Given the description of an element on the screen output the (x, y) to click on. 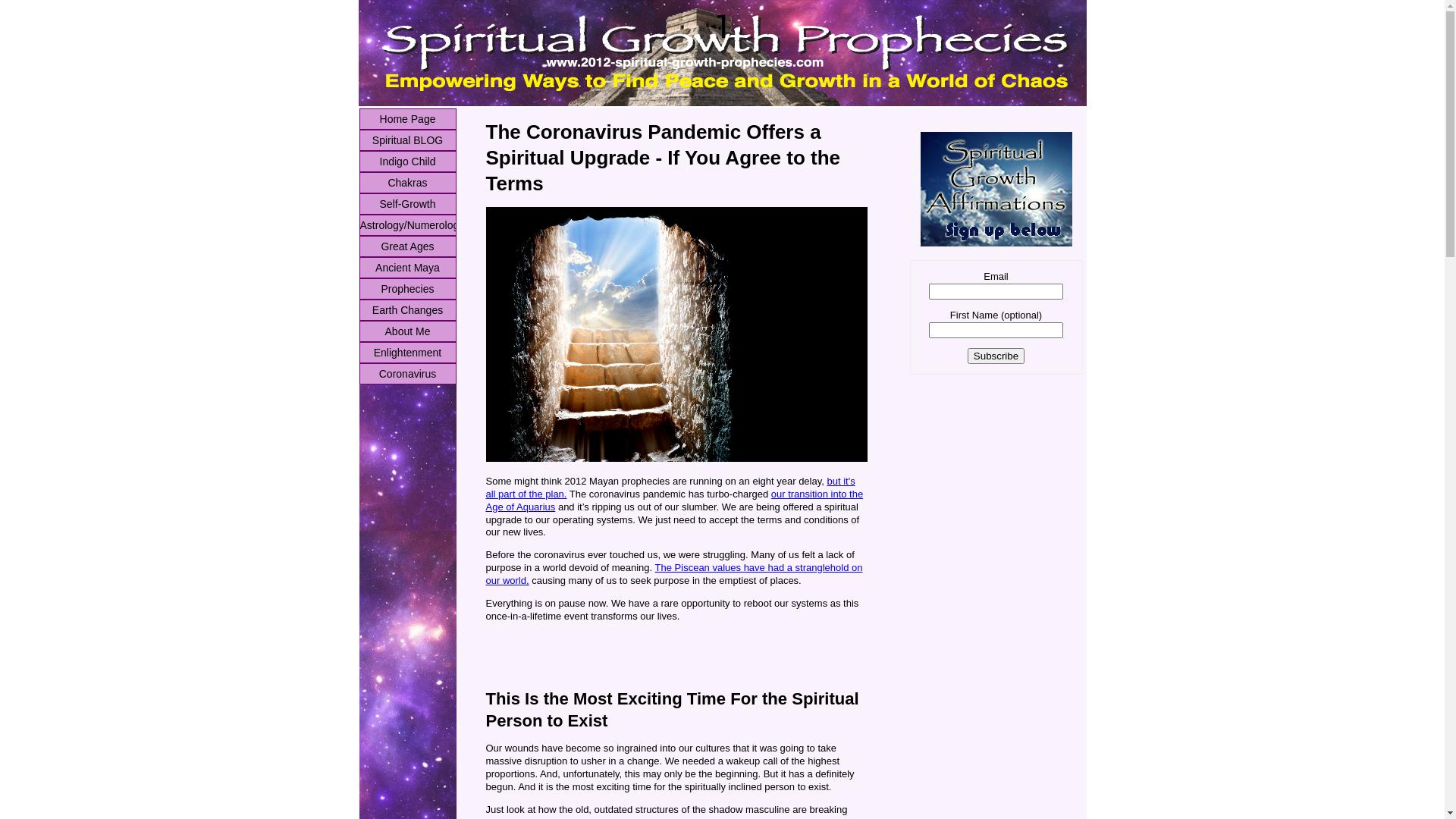
Astrology/Numerology Element type: text (407, 224)
but it's all part of the plan. Element type: text (669, 487)
About Me Element type: text (407, 331)
Chakras Element type: text (407, 182)
Advertisement Element type: hover (662, 655)
Ancient Maya Element type: text (407, 267)
our transition into the Age of Aquarius Element type: text (673, 500)
Earth Changes Element type: text (407, 309)
Self-Growth Element type: text (407, 203)
Coronavirus Awakening Element type: text (407, 373)
Great Ages Element type: text (407, 246)
Spiritual BLOG Element type: text (407, 139)
Indigo Child Element type: text (407, 161)
Prophecies Element type: text (407, 288)
Home Page Element type: text (407, 118)
Enlightenment Element type: text (407, 352)
Subscribe Element type: text (995, 356)
The Piscean values have had a stranglehold on our world, Element type: text (673, 573)
